Given the description of an element on the screen output the (x, y) to click on. 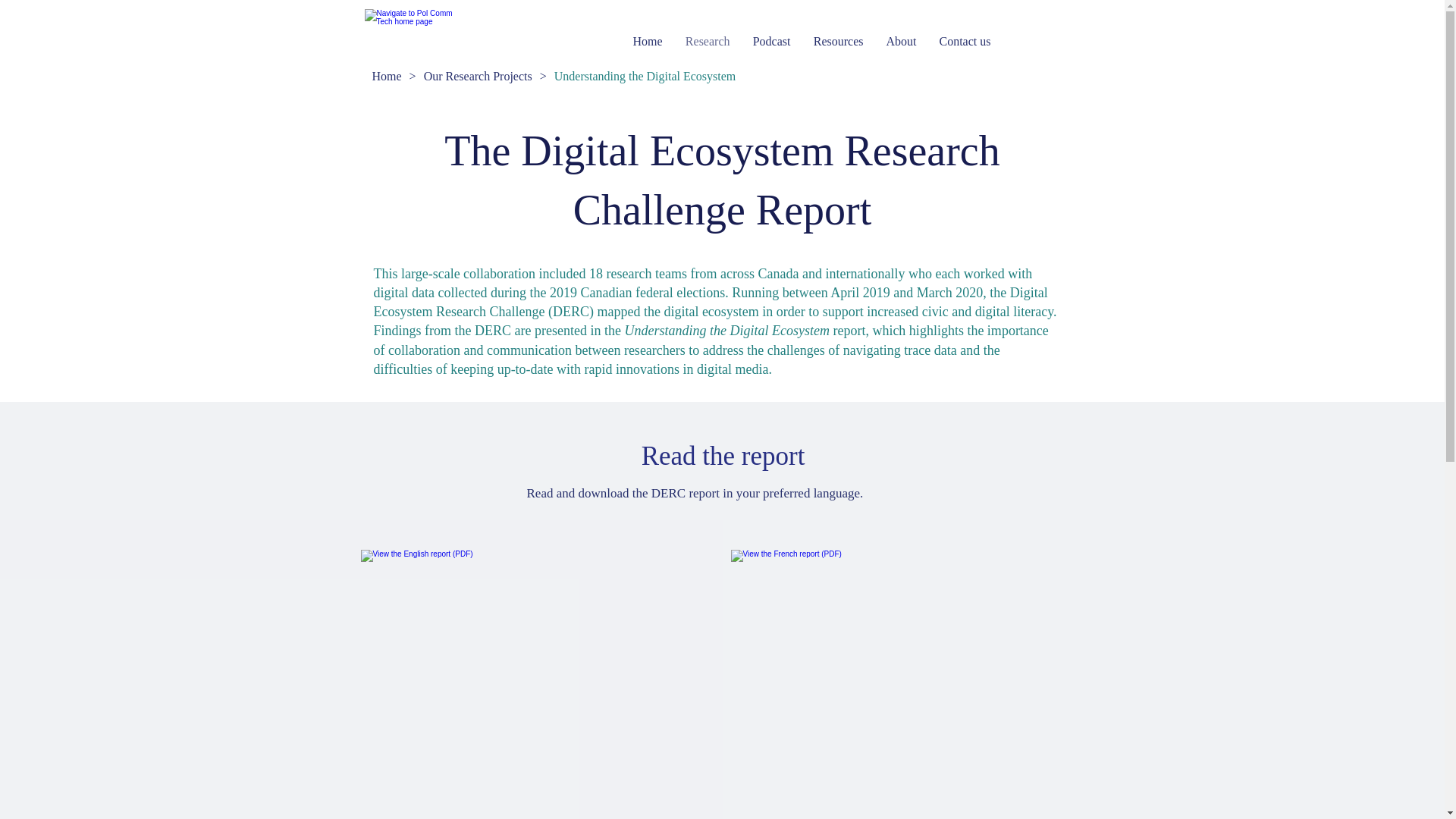
Podcast (771, 41)
Research (706, 41)
Understanding the Digital Ecosystem (645, 76)
Home (409, 36)
Our Research Projects (478, 76)
Contact us (965, 41)
Home (647, 41)
Home (386, 76)
Resources (838, 41)
About (901, 41)
